Given the description of an element on the screen output the (x, y) to click on. 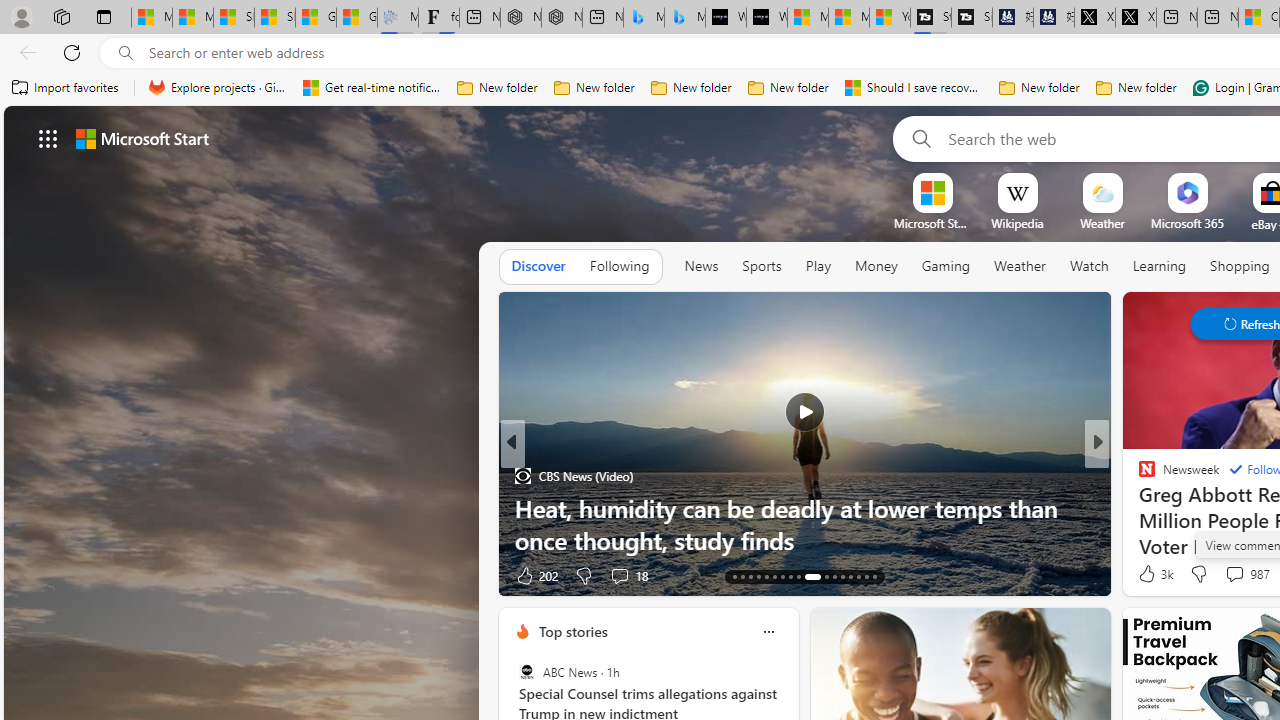
ABC News (526, 672)
AutomationID: tab-16 (757, 576)
View comments 85 Comment (1237, 574)
AutomationID: tab-18 (774, 576)
Learning (1159, 265)
View comments 987 Comment (1246, 574)
Search (917, 138)
Class: control (47, 138)
Learning (1159, 267)
AutomationID: tab-23 (825, 576)
X (1135, 17)
PsychLove (1138, 475)
